Given the description of an element on the screen output the (x, y) to click on. 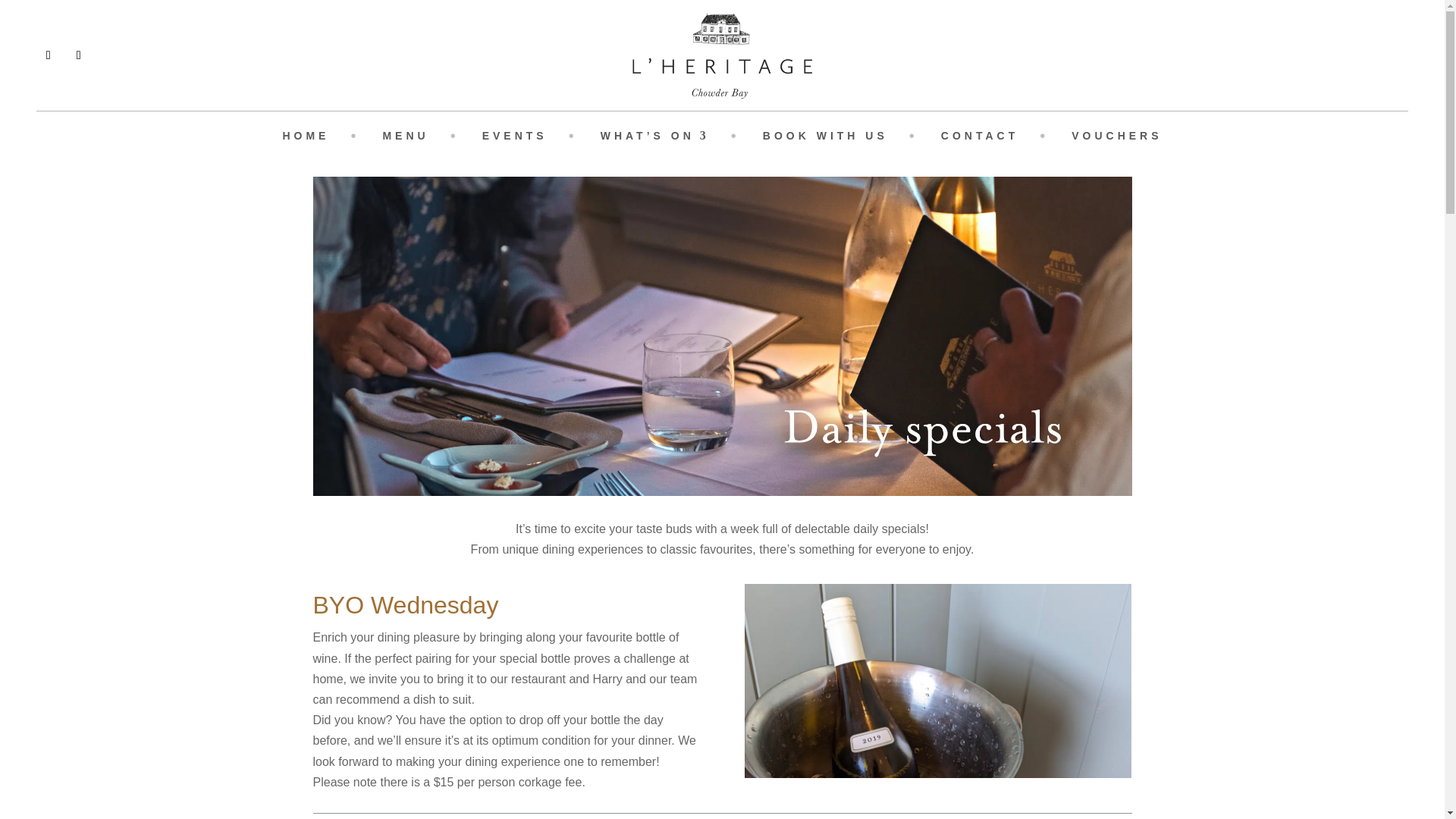
VOUCHERS (1116, 138)
EVENTS (514, 138)
BOOK WITH US (825, 138)
Follow on Facebook (48, 55)
CONTACT (978, 138)
MENU (404, 138)
Follow on Instagram (78, 55)
HOME (305, 138)
